Given the description of an element on the screen output the (x, y) to click on. 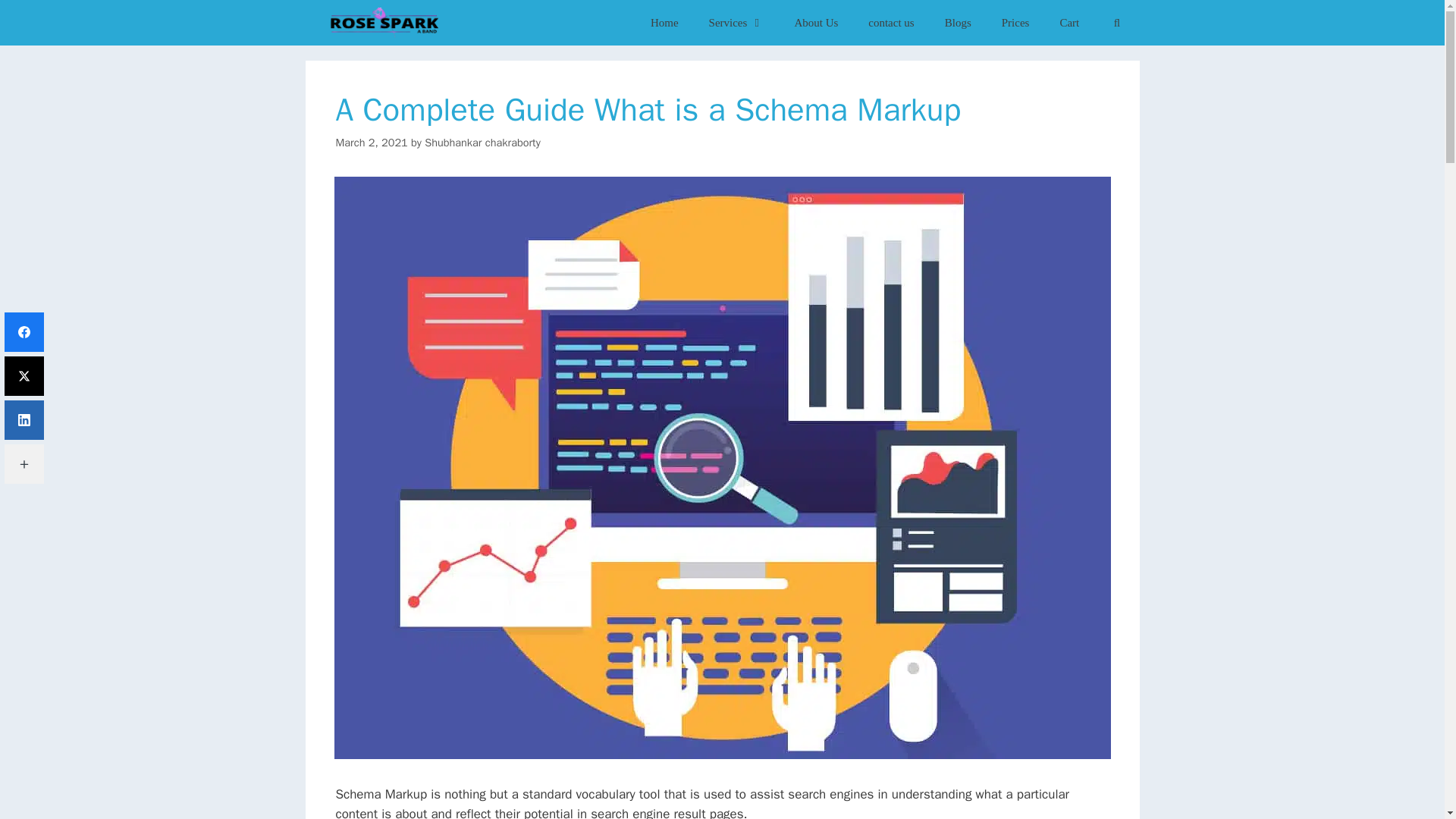
Rosespark (385, 22)
Home (664, 22)
Services (736, 22)
Cart (1068, 22)
View all posts by Shubhankar chakraborty (482, 142)
Rosespark (382, 22)
Prices (1016, 22)
About Us (815, 22)
Blogs (958, 22)
Shubhankar chakraborty (482, 142)
contact us (890, 22)
